Given the description of an element on the screen output the (x, y) to click on. 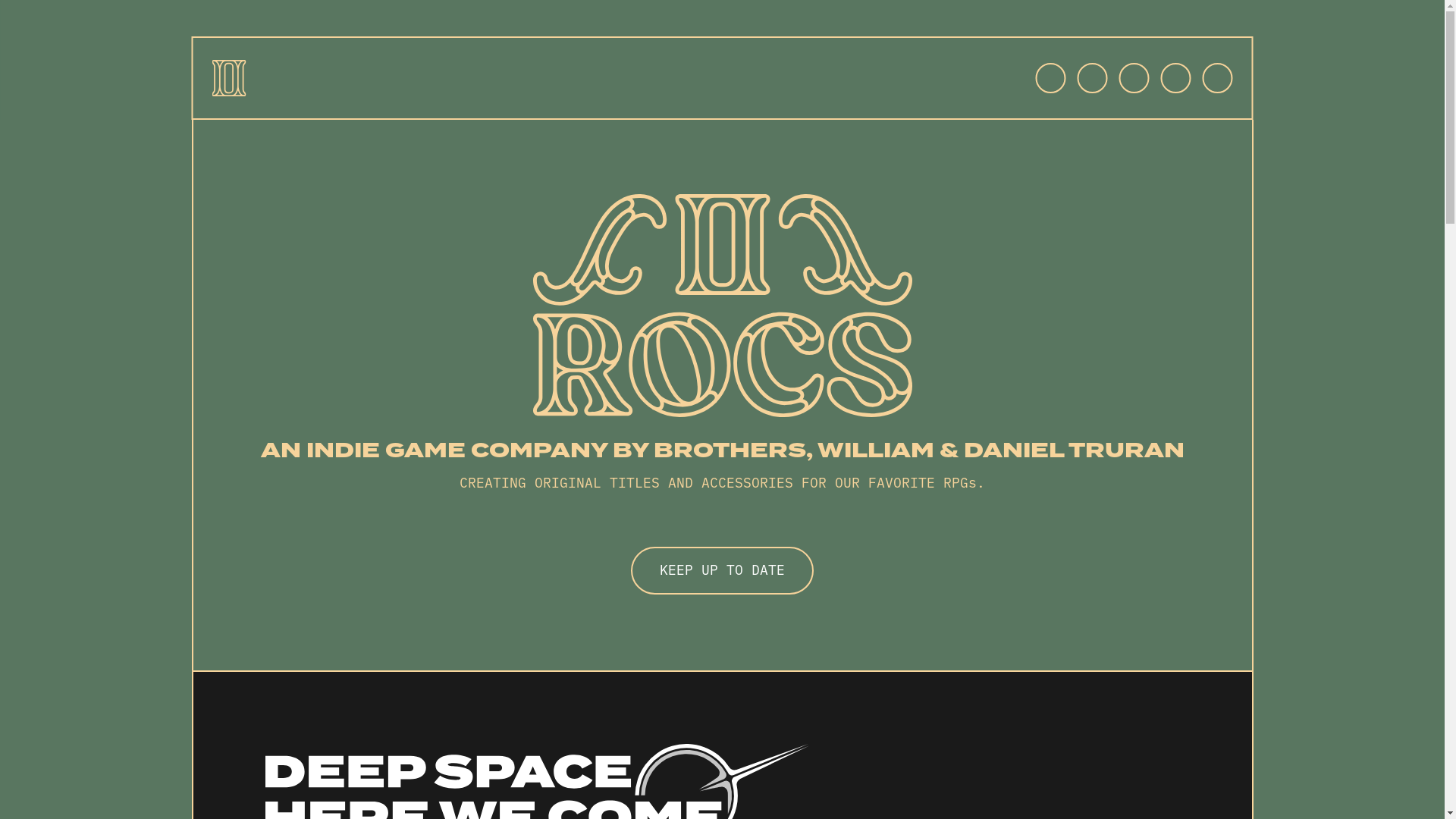
KEEP UP TO DATE Element type: text (721, 570)
